Given the description of an element on the screen output the (x, y) to click on. 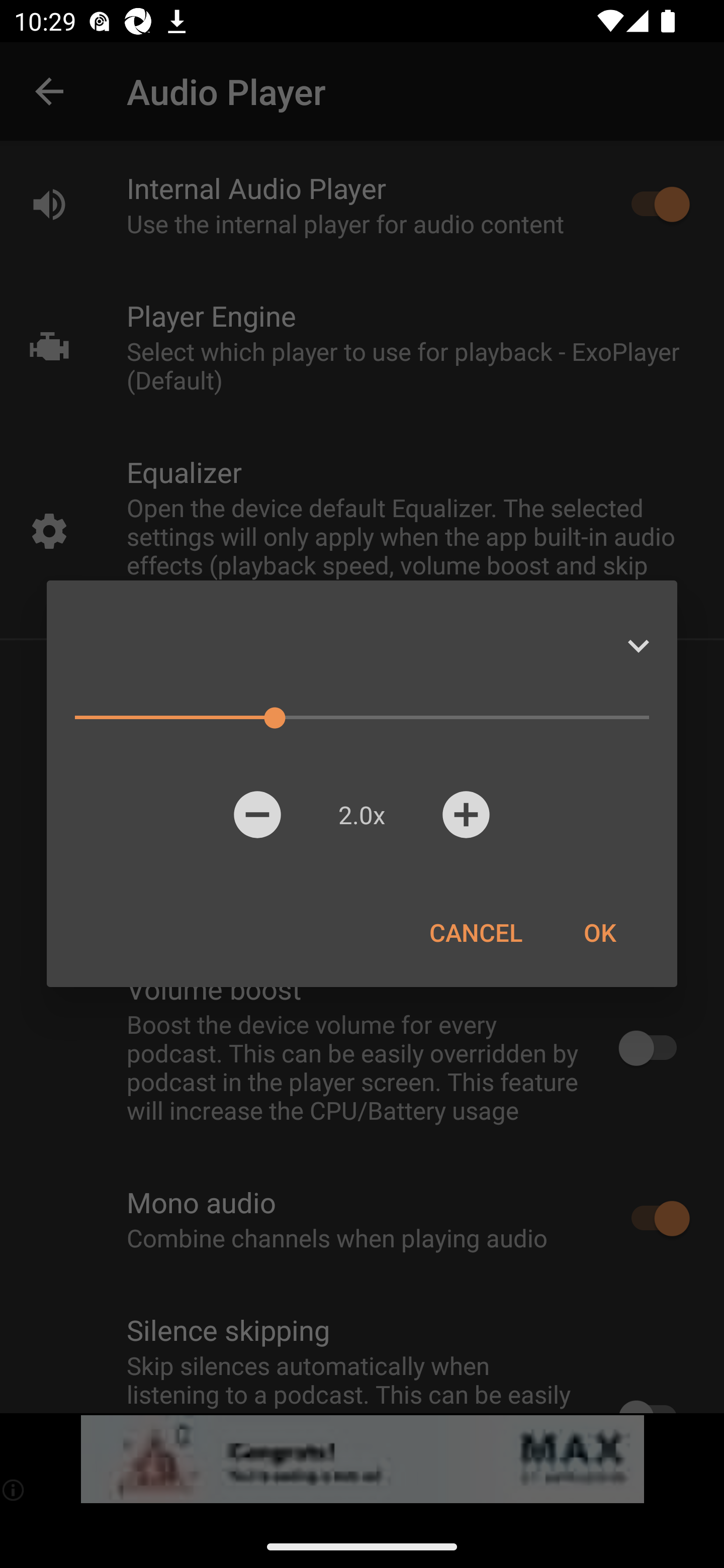
Expand (637, 645)
2.0x (361, 814)
CANCEL (475, 932)
OK (599, 932)
